Given the description of an element on the screen output the (x, y) to click on. 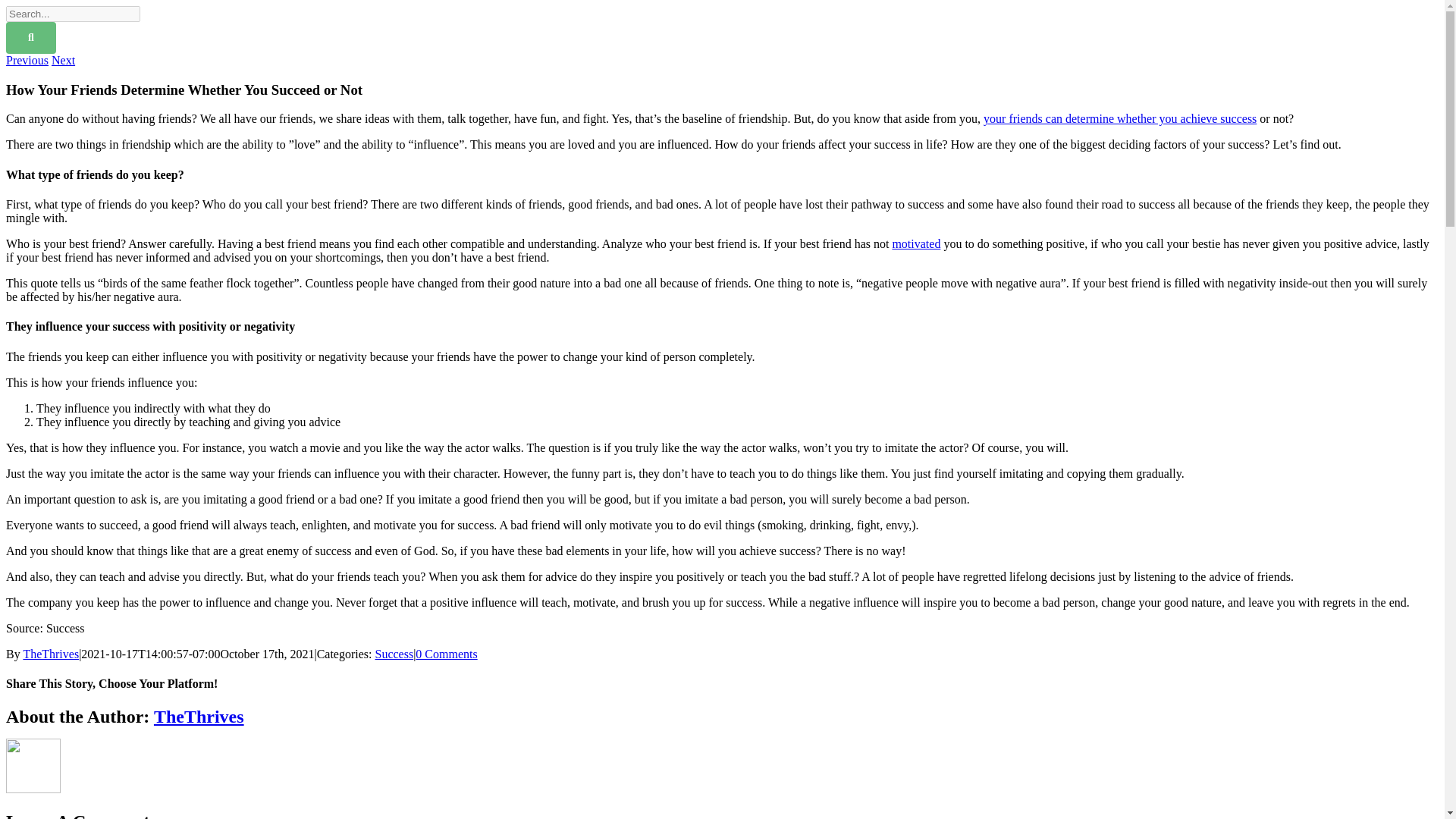
Next (62, 60)
Posts by TheThrives (50, 653)
Posts by TheThrives (199, 716)
TheThrives (199, 716)
0 Comments (445, 653)
your friends can determine whether you achieve success (1120, 118)
Success (393, 653)
motivated (915, 243)
Previous (26, 60)
